Given the description of an element on the screen output the (x, y) to click on. 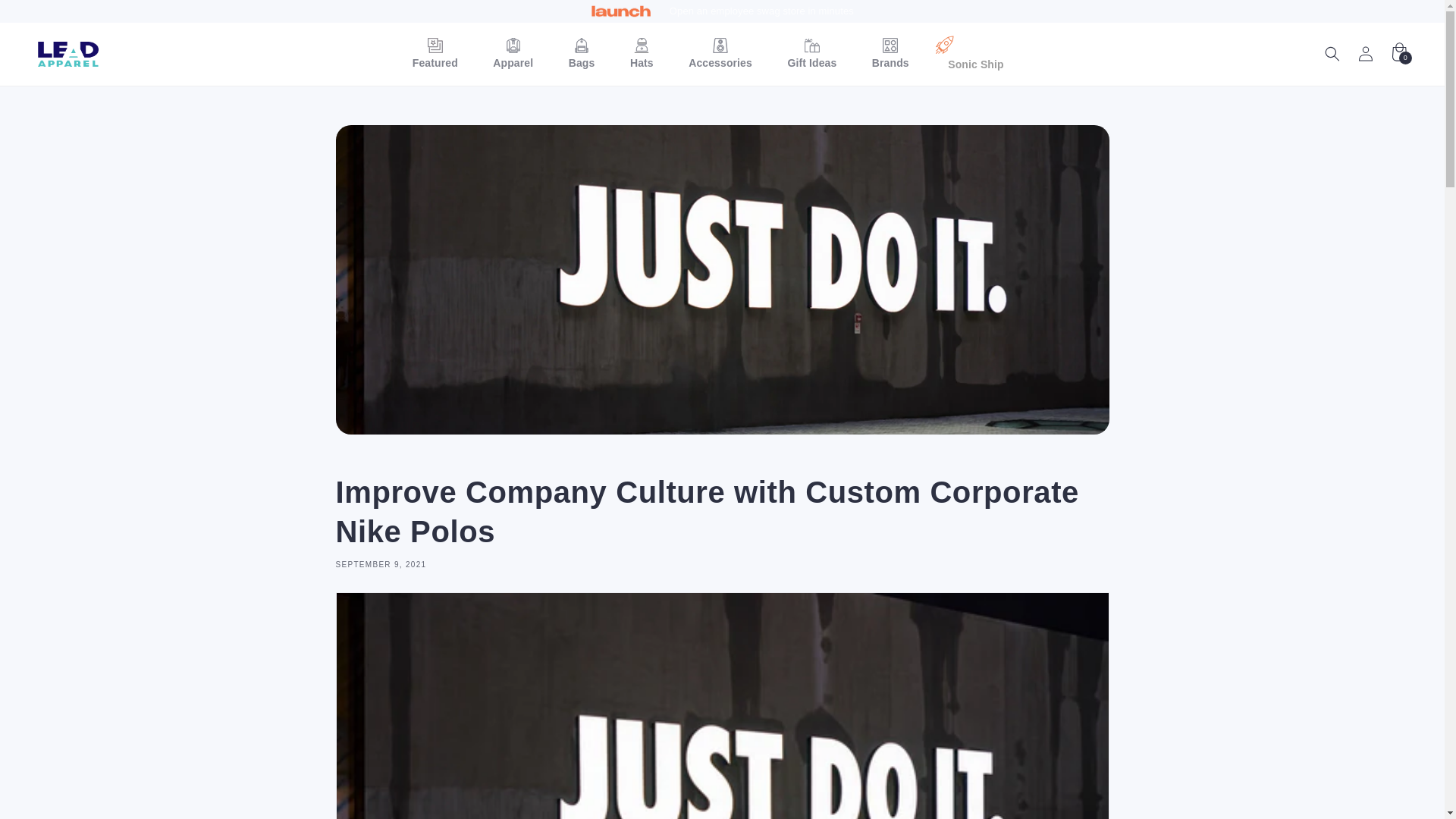
Skip to content (45, 17)
